Given the description of an element on the screen output the (x, y) to click on. 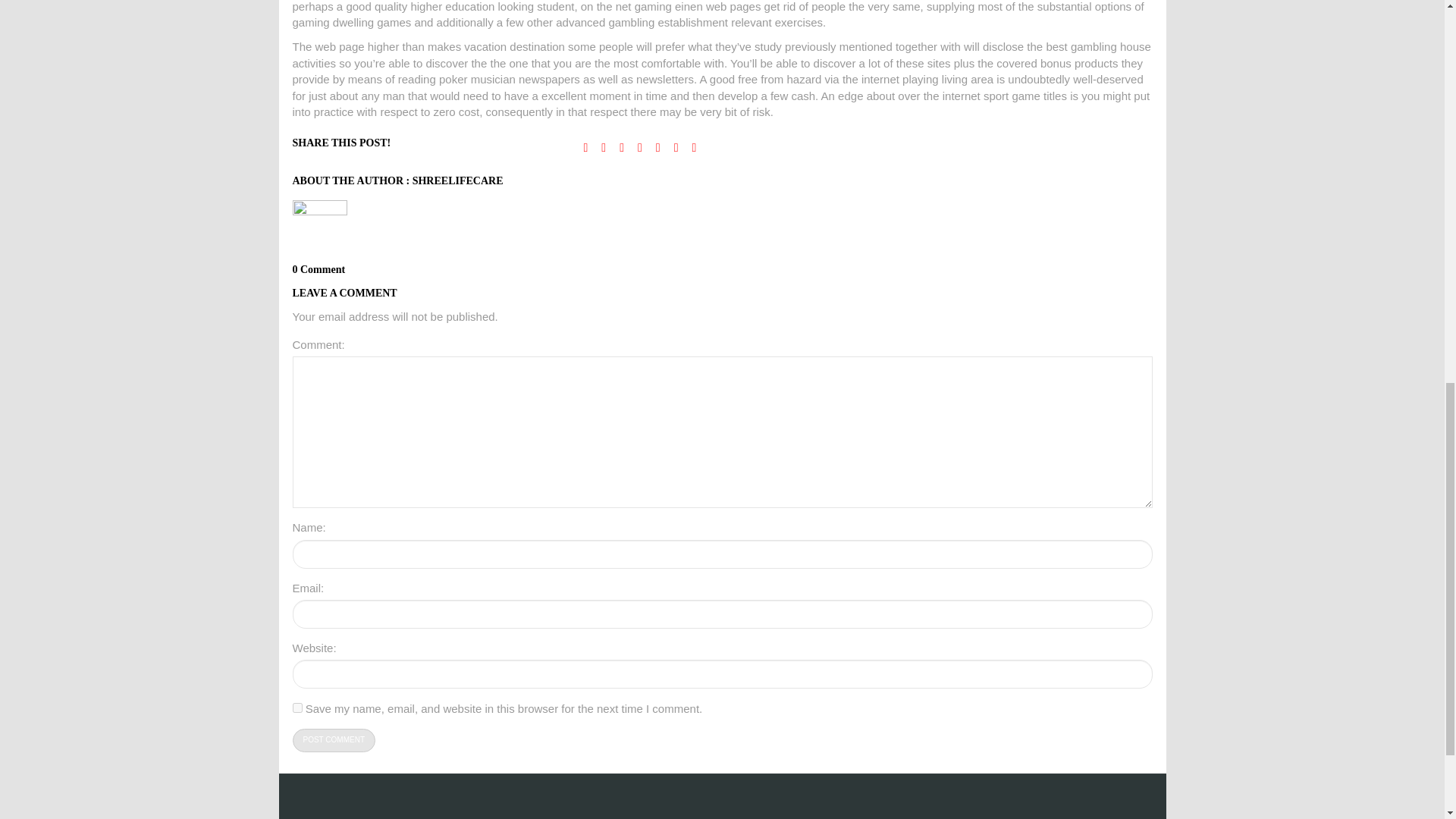
Post Comment (333, 739)
yes (297, 707)
SHREELIFECARE (457, 180)
Post Comment (333, 739)
